Given the description of an element on the screen output the (x, y) to click on. 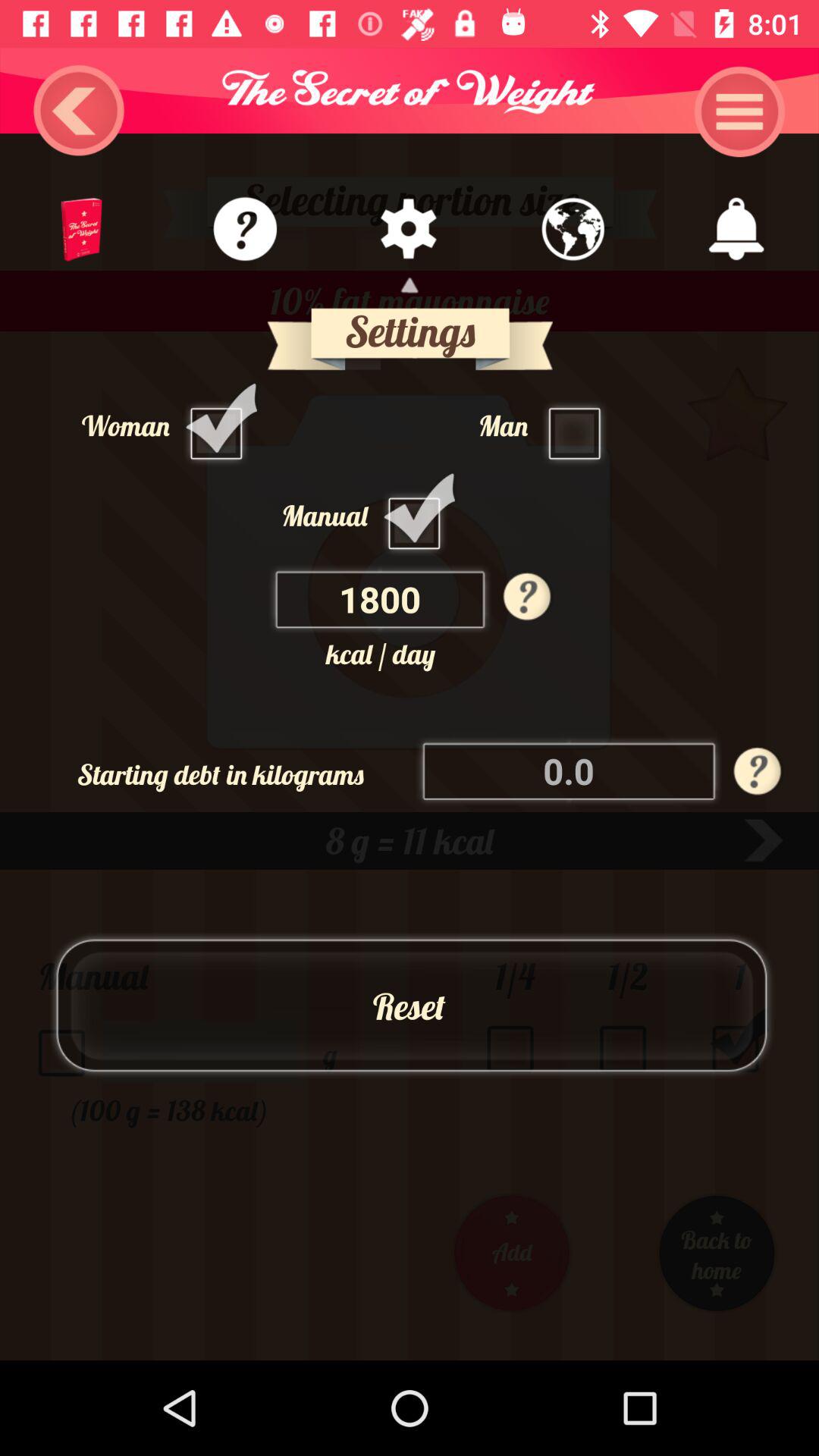
toggle manual option (418, 515)
